Given the description of an element on the screen output the (x, y) to click on. 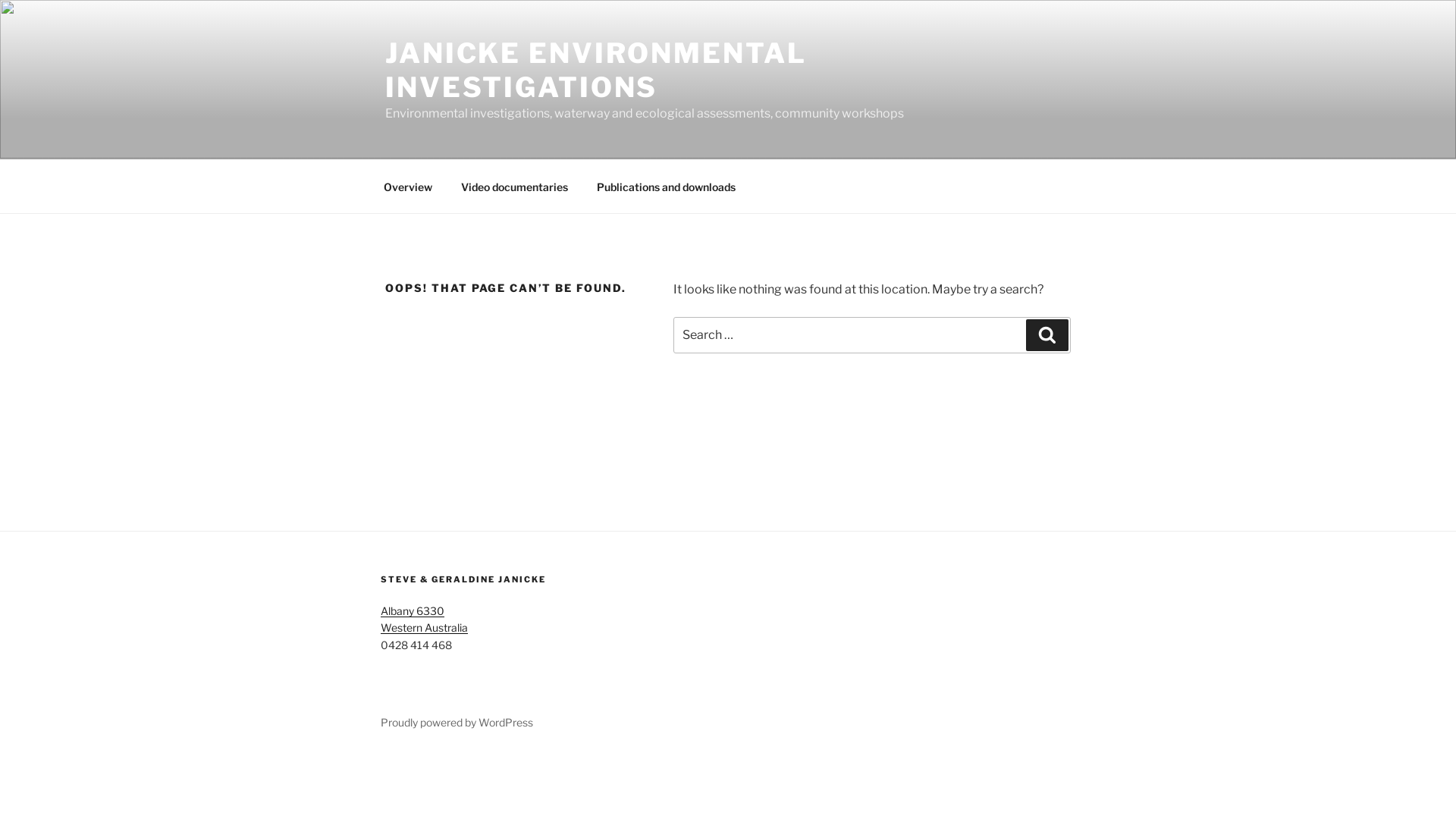
Overview Element type: text (407, 186)
Proudly powered by WordPress Element type: text (456, 721)
Video documentaries Element type: text (513, 186)
JANICKE ENVIRONMENTAL INVESTIGATIONS Element type: text (595, 69)
Albany 6330
Western Australia Element type: text (423, 618)
Publications and downloads Element type: text (665, 186)
Search Element type: text (1047, 335)
